Given the description of an element on the screen output the (x, y) to click on. 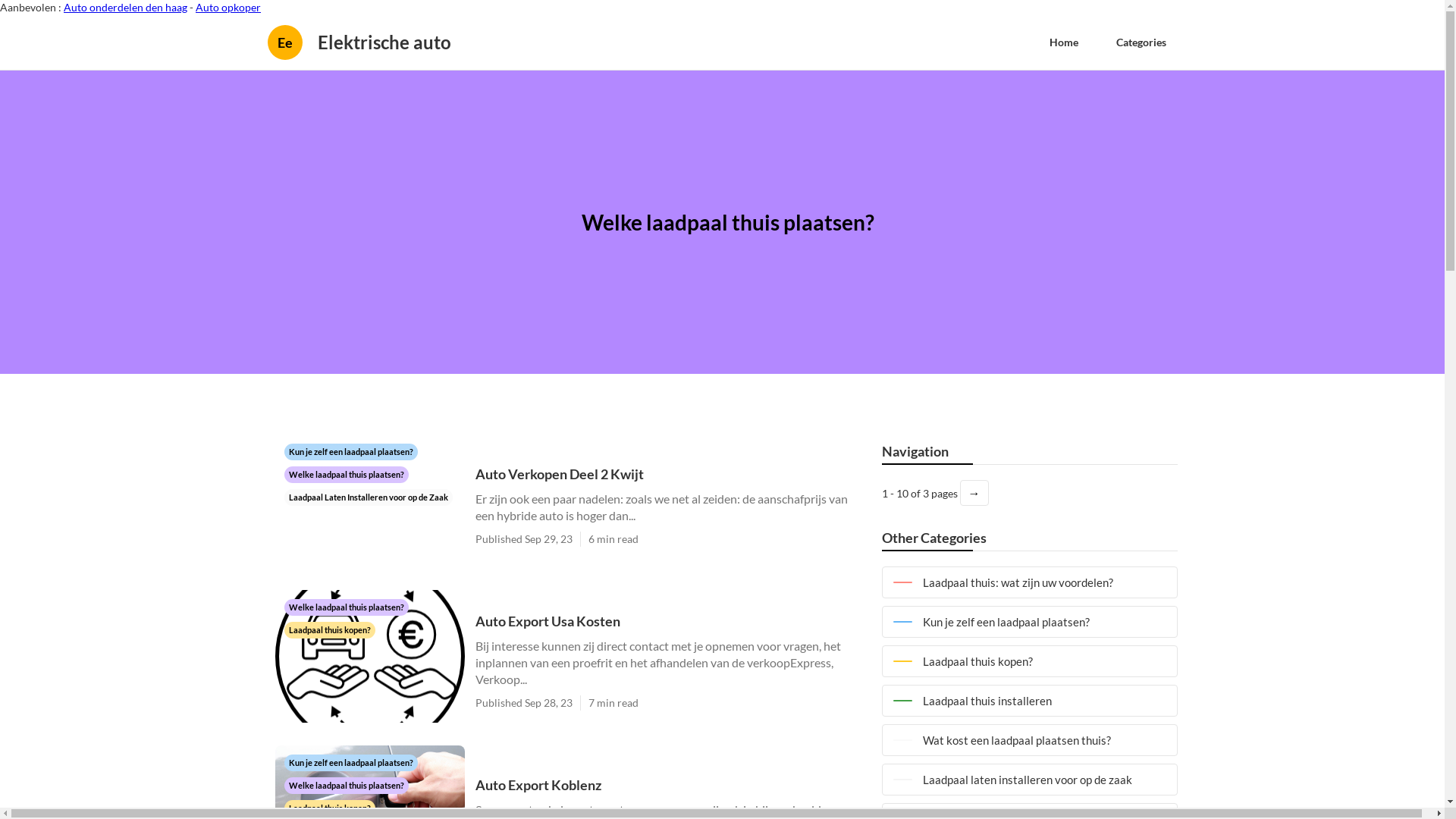
Laadpaal thuis: wat zijn uw voordelen? Element type: text (1028, 582)
Kun je zelf een laadpaal plaatsen? Element type: text (350, 450)
Laadpaal thuis installeren Element type: text (1028, 700)
Auto onderdelen den haag Element type: text (125, 6)
Categories Element type: text (1140, 42)
Kun je zelf een laadpaal plaatsen? Element type: text (350, 761)
Kun je zelf een laadpaal plaatsen? Element type: text (1028, 621)
Welke laadpaal thuis plaatsen? Element type: text (345, 473)
Laadpaal laten installeren voor op de zaak Element type: text (1028, 779)
Auto Export Usa Kosten Element type: text (670, 620)
Auto Export Koblenz Element type: text (670, 784)
Laadpaal Laten Installeren voor op de Zaak Element type: text (367, 495)
Laadpaal thuis kopen? Element type: text (328, 628)
Welke laadpaal thuis plaatsen? Element type: text (345, 605)
Laadpaal thuis kopen? Element type: text (328, 806)
Wat kost een laadpaal plaatsen thuis? Element type: text (1028, 740)
Auto opkoper Element type: text (227, 6)
Auto Verkopen Deel 2 Kwijt Element type: text (670, 473)
Laadpaal thuis kopen? Element type: text (1028, 661)
Welke laadpaal thuis plaatsen? Element type: text (345, 784)
Home Element type: text (1062, 42)
